Given the description of an element on the screen output the (x, y) to click on. 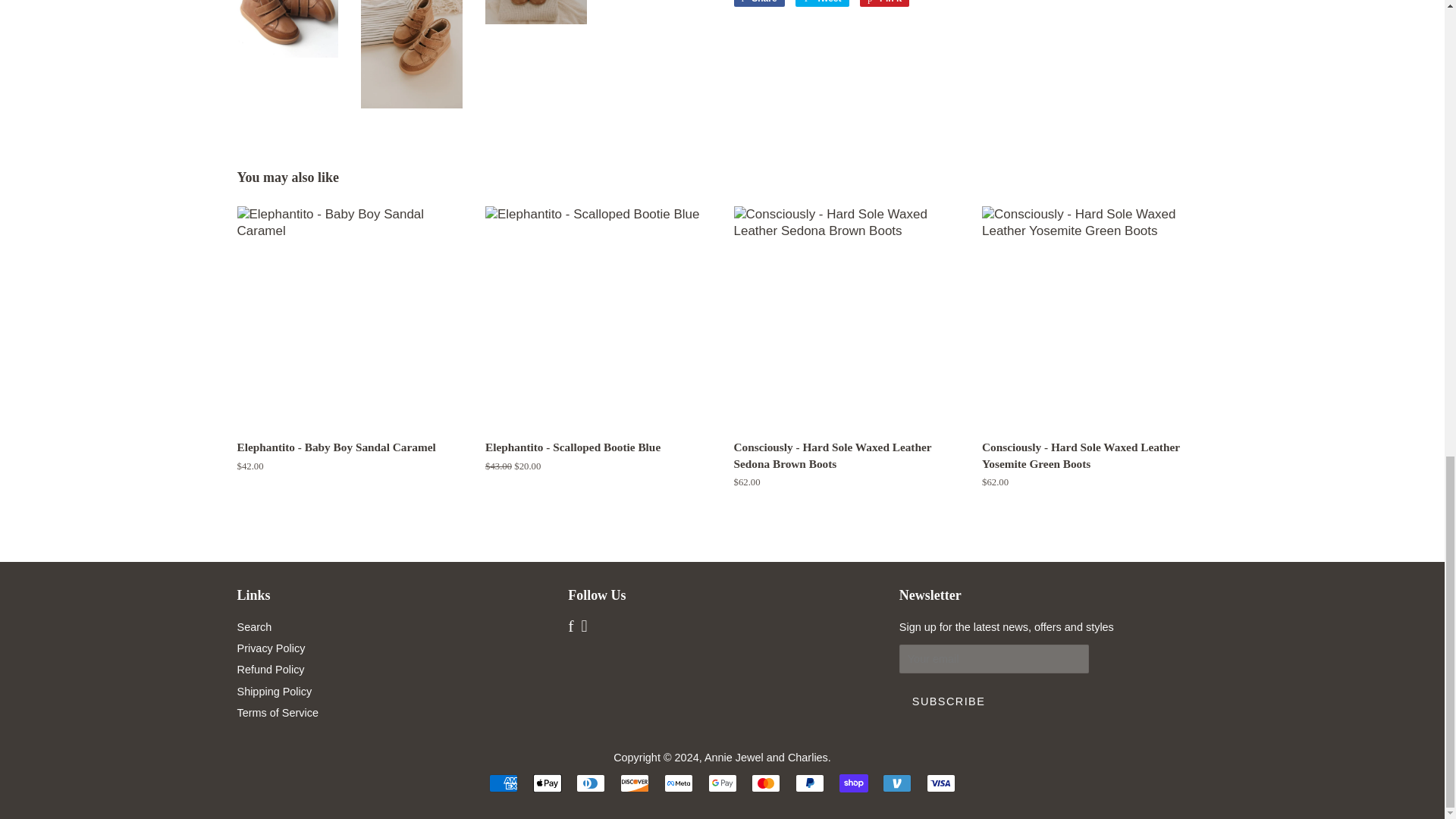
Subscribe (948, 700)
Tweet on Twitter (821, 3)
Visa (940, 782)
Pin on Pinterest (884, 3)
Diners Club (590, 782)
Venmo (896, 782)
Discover (634, 782)
Shop Pay (853, 782)
Meta Pay (678, 782)
Mastercard (765, 782)
American Express (503, 782)
PayPal (809, 782)
Apple Pay (547, 782)
Share on Facebook (758, 3)
Google Pay (721, 782)
